Given the description of an element on the screen output the (x, y) to click on. 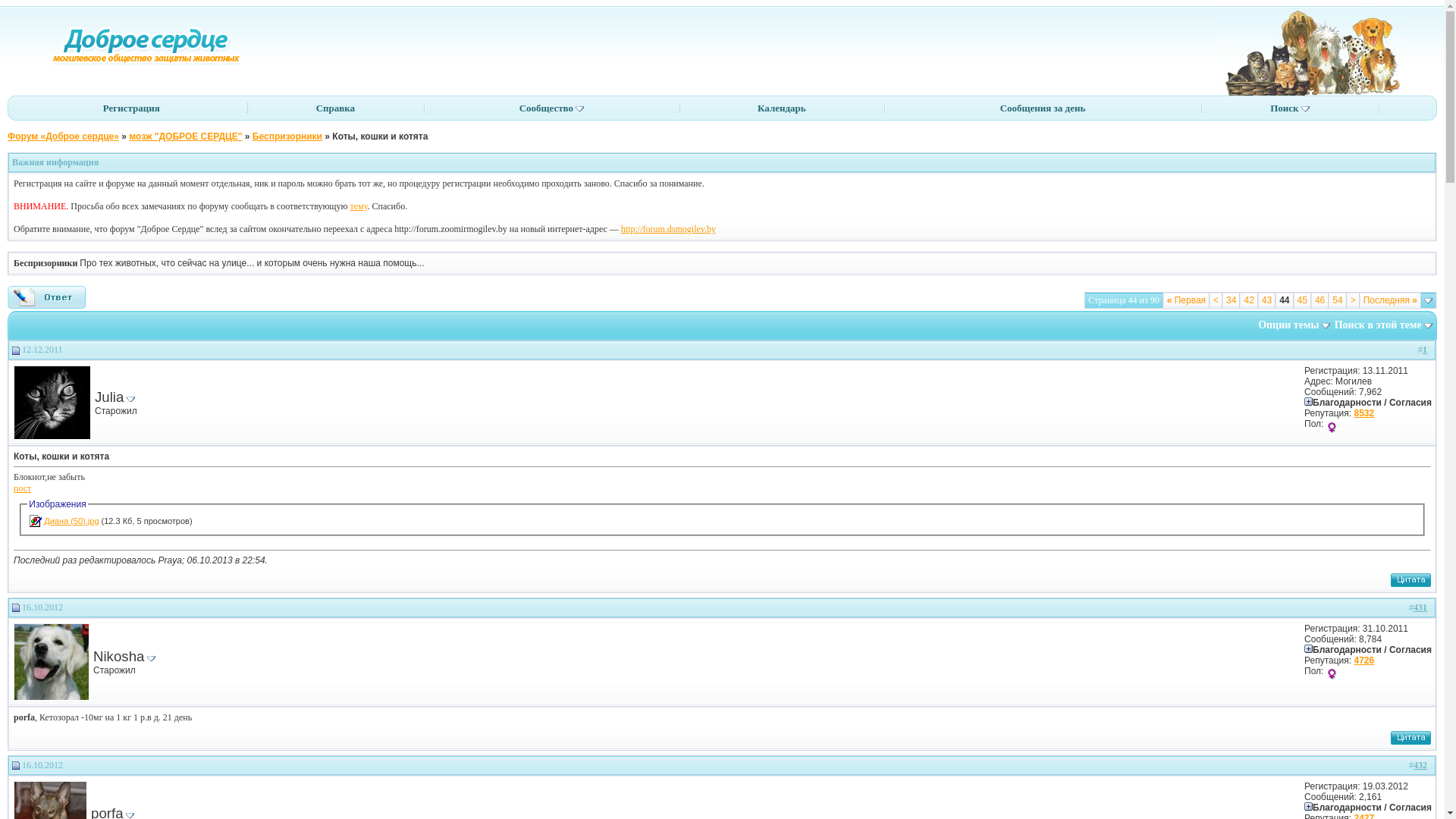
< Element type: text (1215, 299)
54 Element type: text (1337, 299)
Nikosha Element type: text (118, 656)
8532 Element type: text (1363, 412)
> Element type: text (1352, 299)
431 Element type: text (1420, 607)
43 Element type: text (1266, 299)
42 Element type: text (1248, 299)
432 Element type: text (1420, 764)
46 Element type: text (1319, 299)
Banner 11 Element type: hover (1309, 50)
4726 Element type: text (1363, 660)
http://forum.dsmogilev.by Element type: text (668, 228)
34 Element type: text (1231, 299)
Julia Element type: text (108, 396)
1 Element type: text (1424, 349)
45 Element type: text (1302, 299)
